Given the description of an element on the screen output the (x, y) to click on. 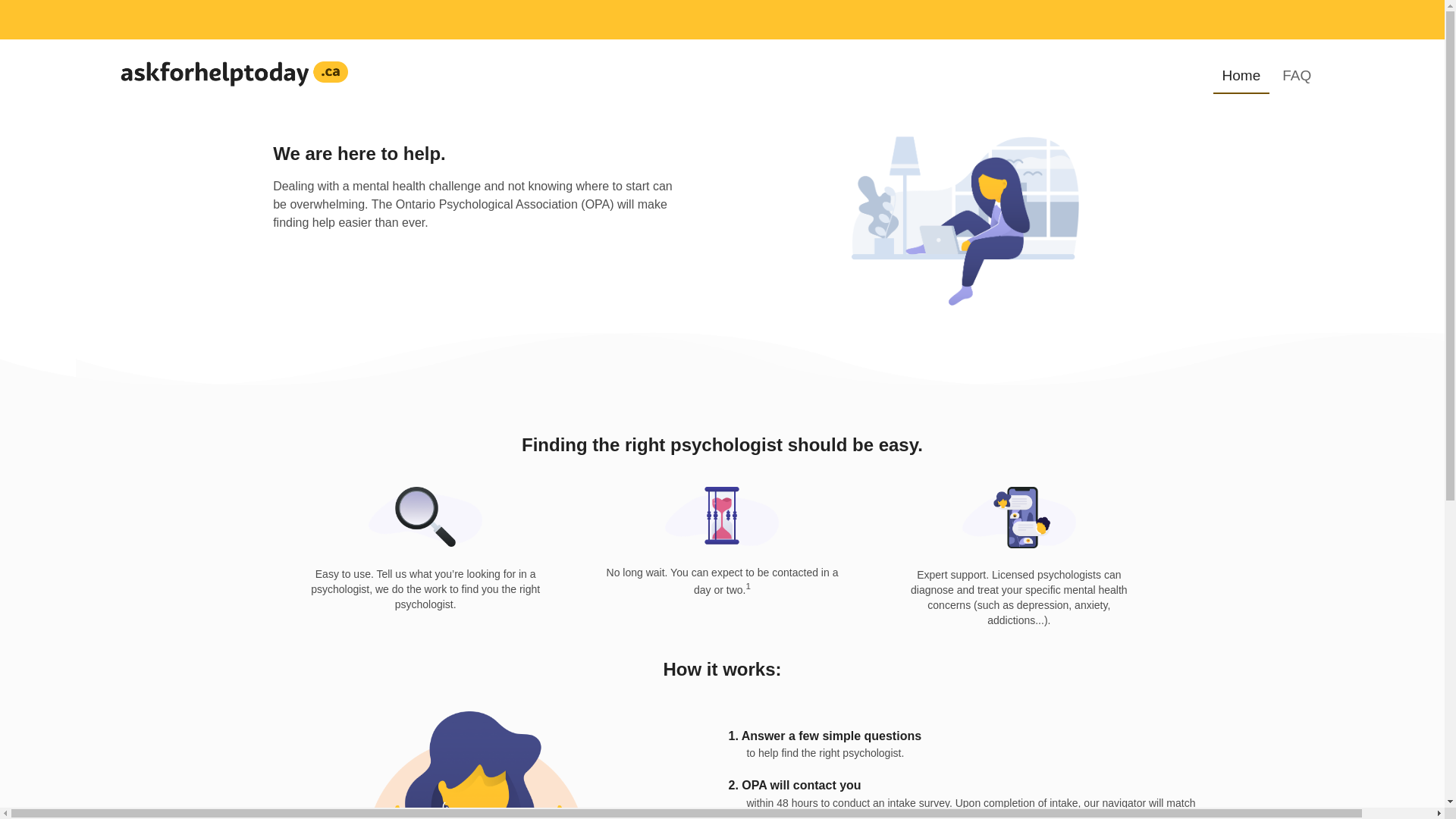
Home Element type: text (1241, 75)
FAQ Element type: text (1296, 75)
